Given the description of an element on the screen output the (x, y) to click on. 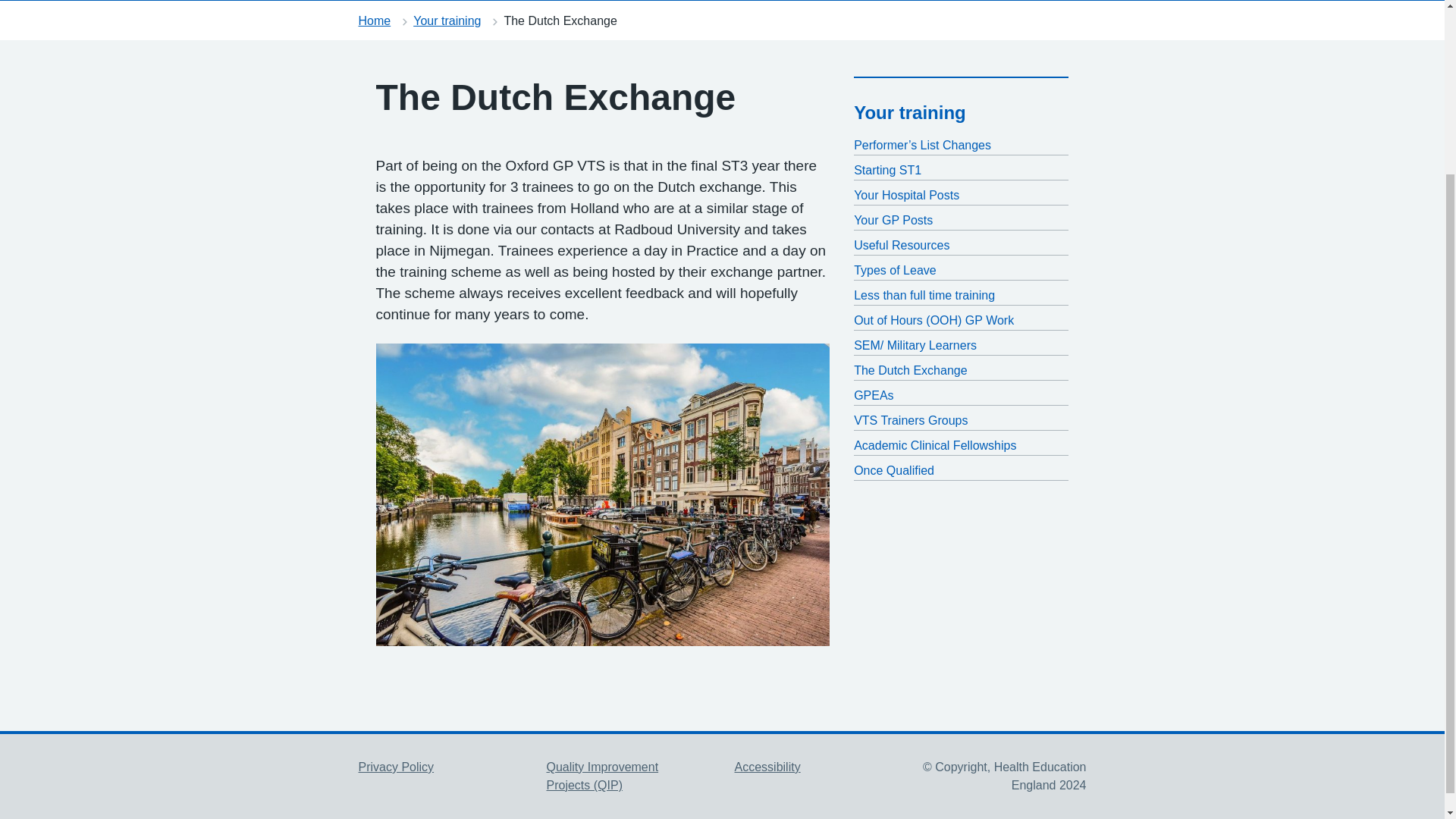
Academic Clinical Fellowships (960, 445)
Less than full time training (960, 295)
Your GP Posts (960, 220)
MRCGP (559, 0)
Home (374, 20)
Starting ST1 (960, 170)
Privacy Policy (395, 766)
Your Hospital Posts (960, 195)
Home (386, 0)
About us (469, 0)
GPEAs (960, 395)
The Dutch Exchange (960, 370)
Trainers (904, 0)
